Given the description of an element on the screen output the (x, y) to click on. 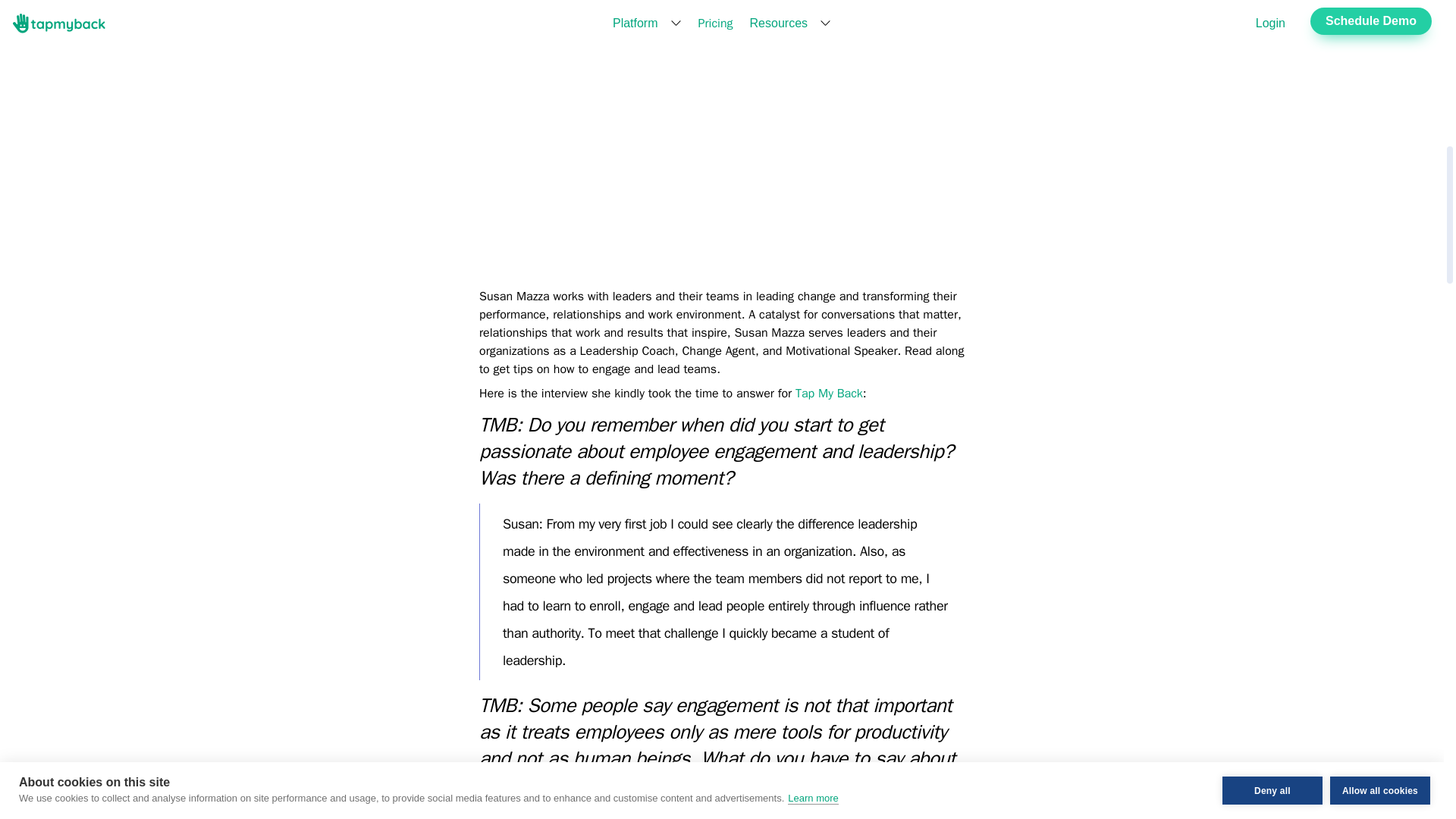
Learn more (812, 29)
Allow all cookies (1379, 7)
Deny all (1272, 15)
Tap My Back (828, 392)
